Given the description of an element on the screen output the (x, y) to click on. 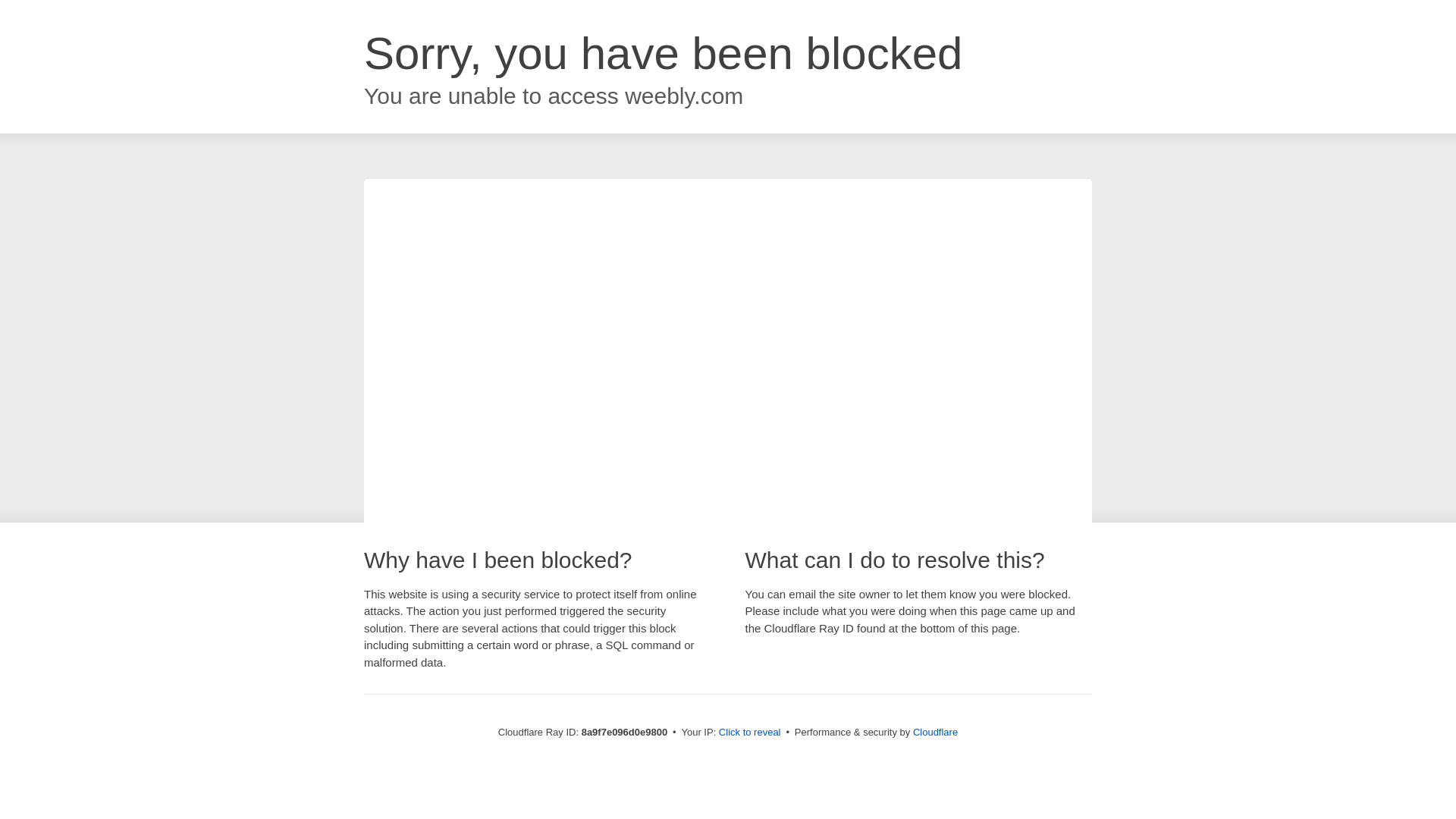
Cloudflare (935, 731)
Click to reveal (749, 732)
